Given the description of an element on the screen output the (x, y) to click on. 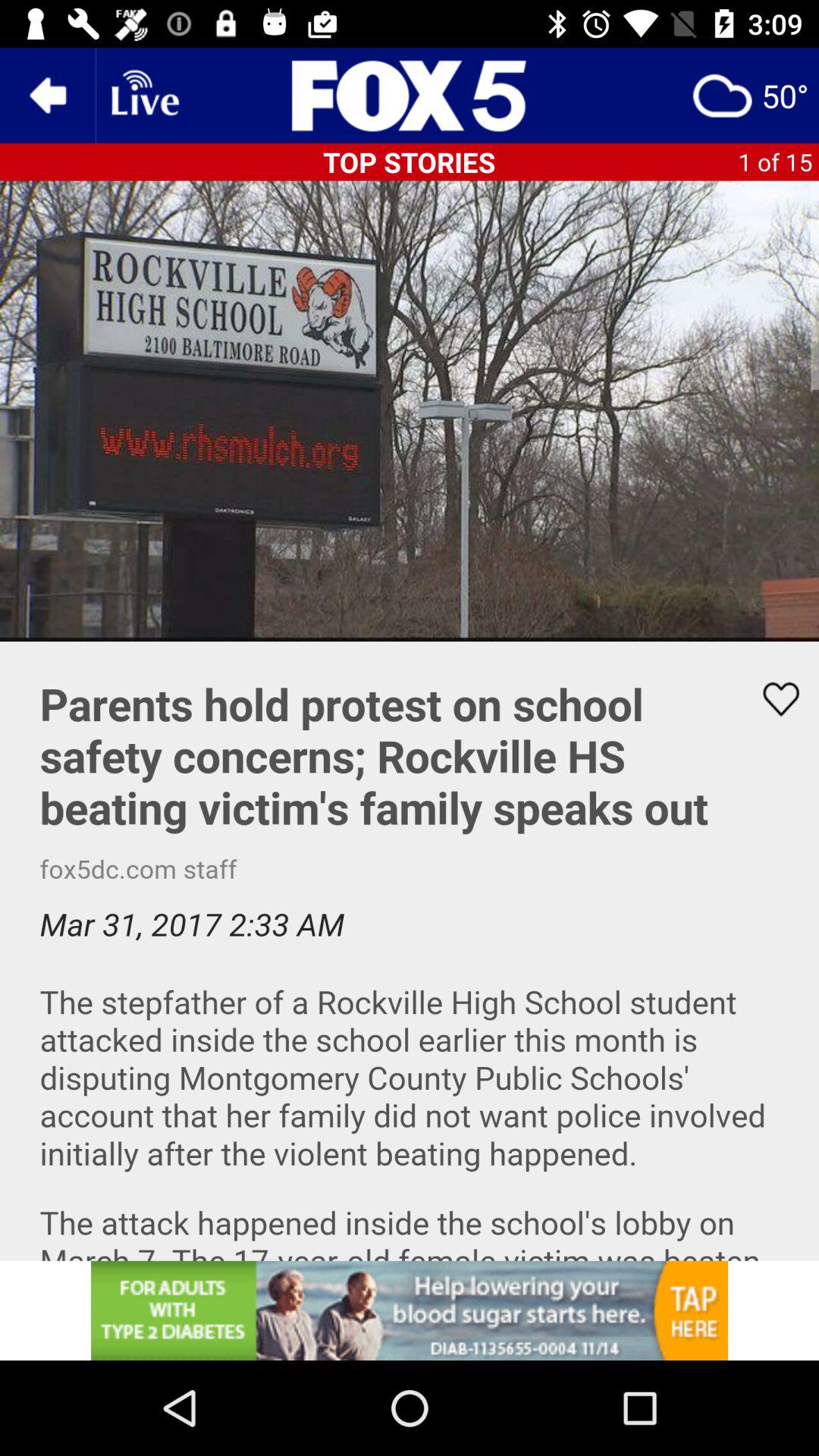
blood pressure advertisement (409, 1310)
